Given the description of an element on the screen output the (x, y) to click on. 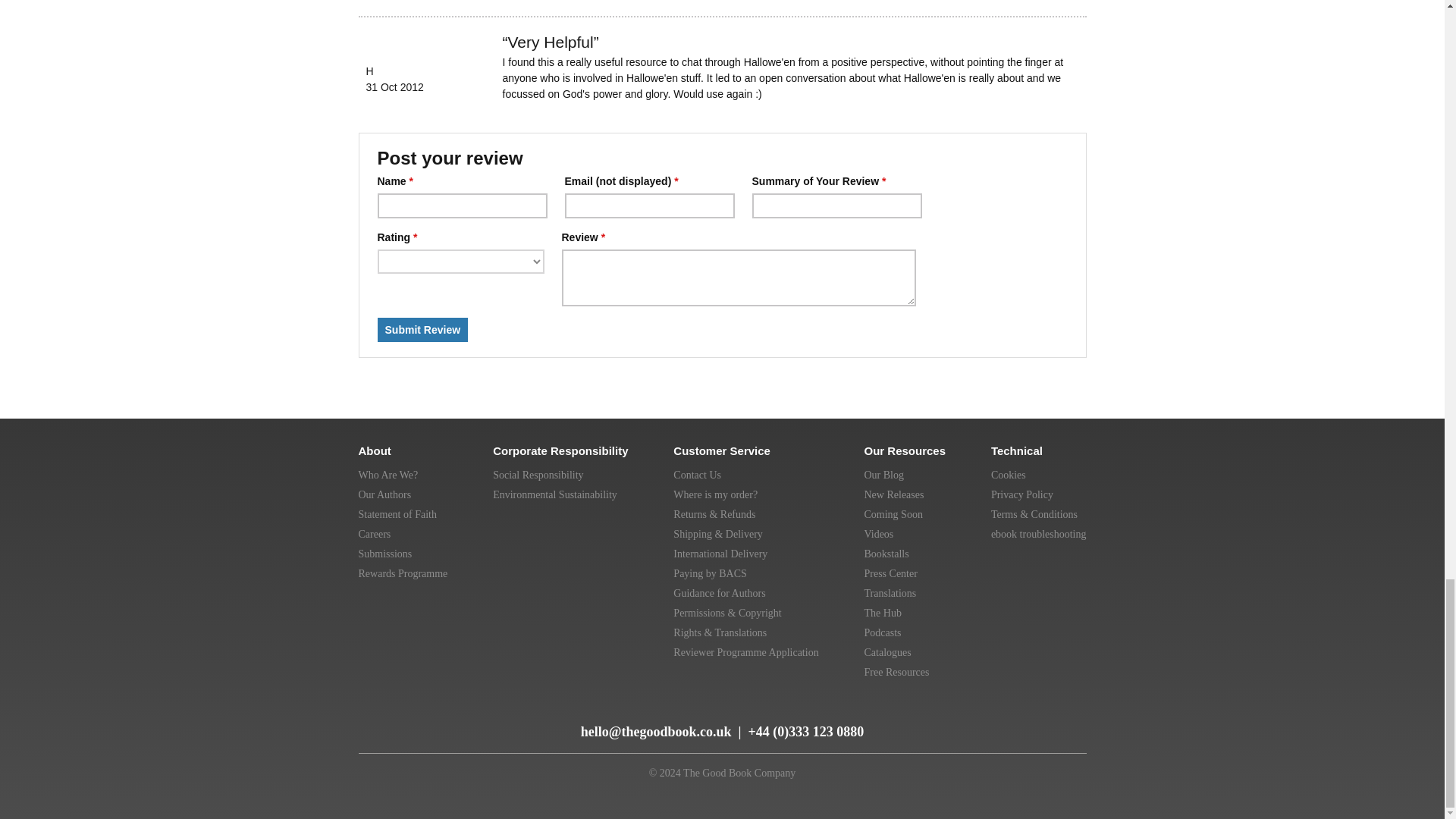
Go to UK Website (937, 715)
Go to US Website (972, 715)
Go to New Zealand Website (1039, 715)
Go to South Africa Website (1071, 715)
Go to Australia Website (1006, 715)
Subscribe to feed (371, 725)
Submit Review (422, 329)
